Given the description of an element on the screen output the (x, y) to click on. 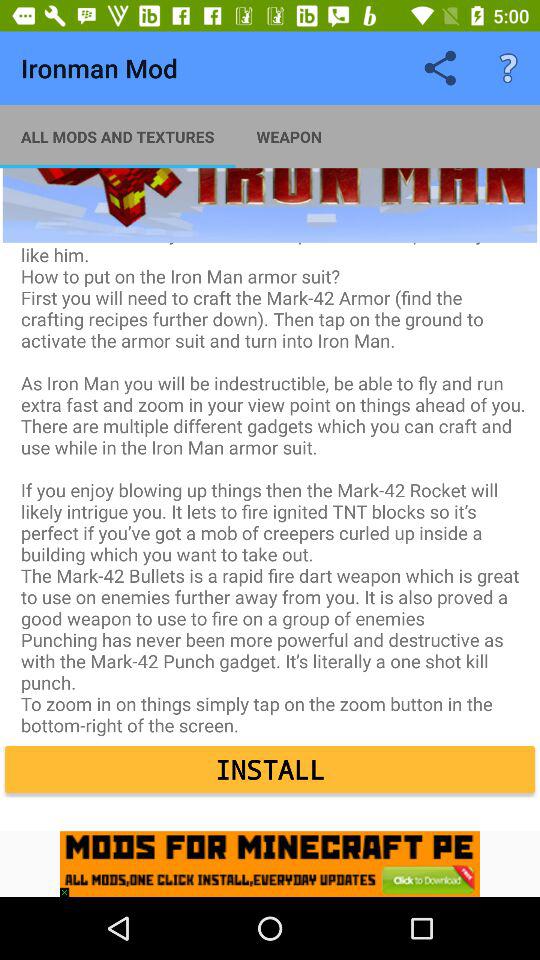
open all mods and item (117, 136)
